Given the description of an element on the screen output the (x, y) to click on. 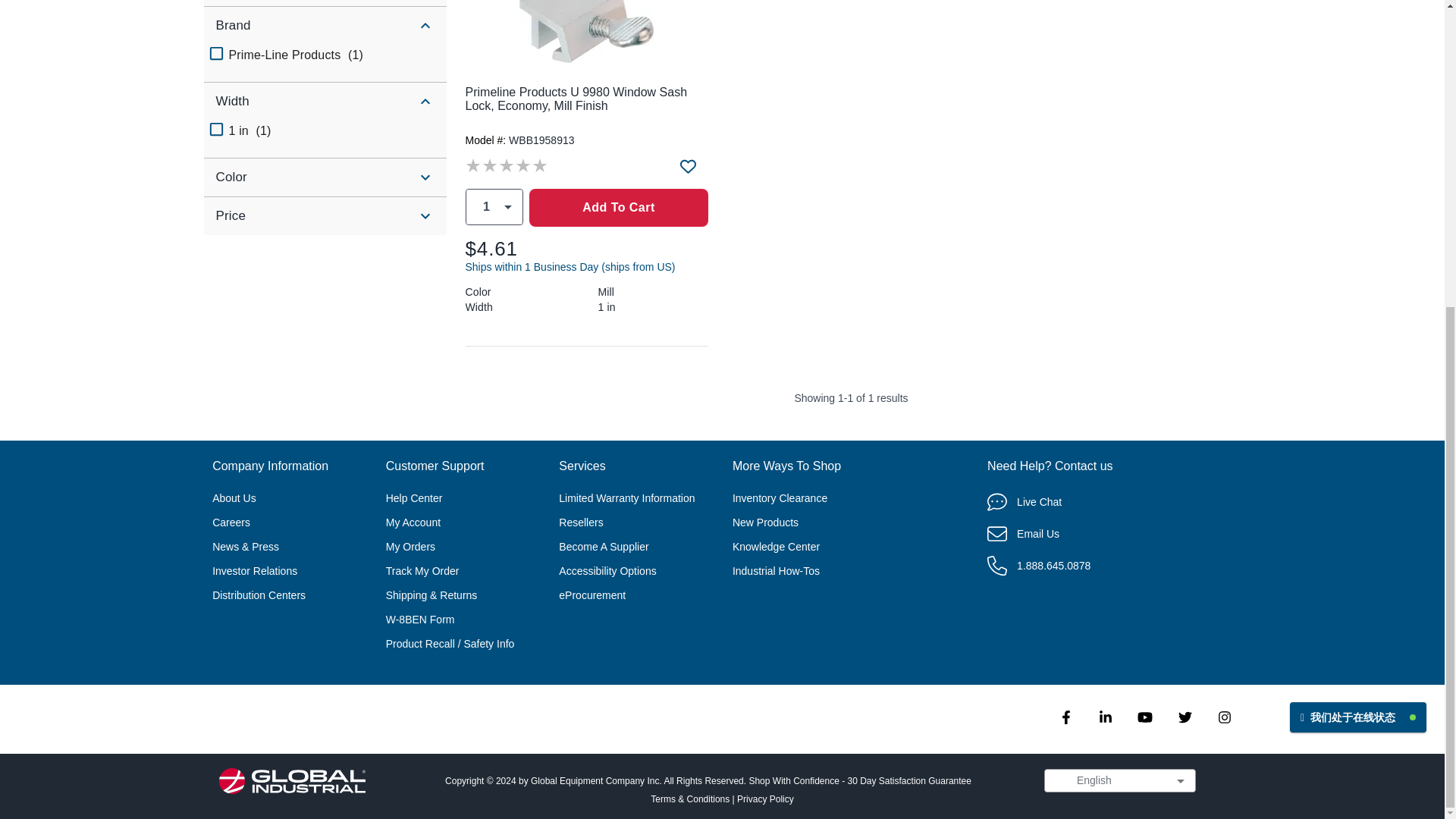
My Account (413, 522)
Help Center (413, 498)
About Us (234, 498)
Distribution Centers (258, 594)
Careers (231, 522)
Add To Cart (619, 207)
Investor Relations (254, 571)
Customer Chat (1358, 223)
